Given the description of an element on the screen output the (x, y) to click on. 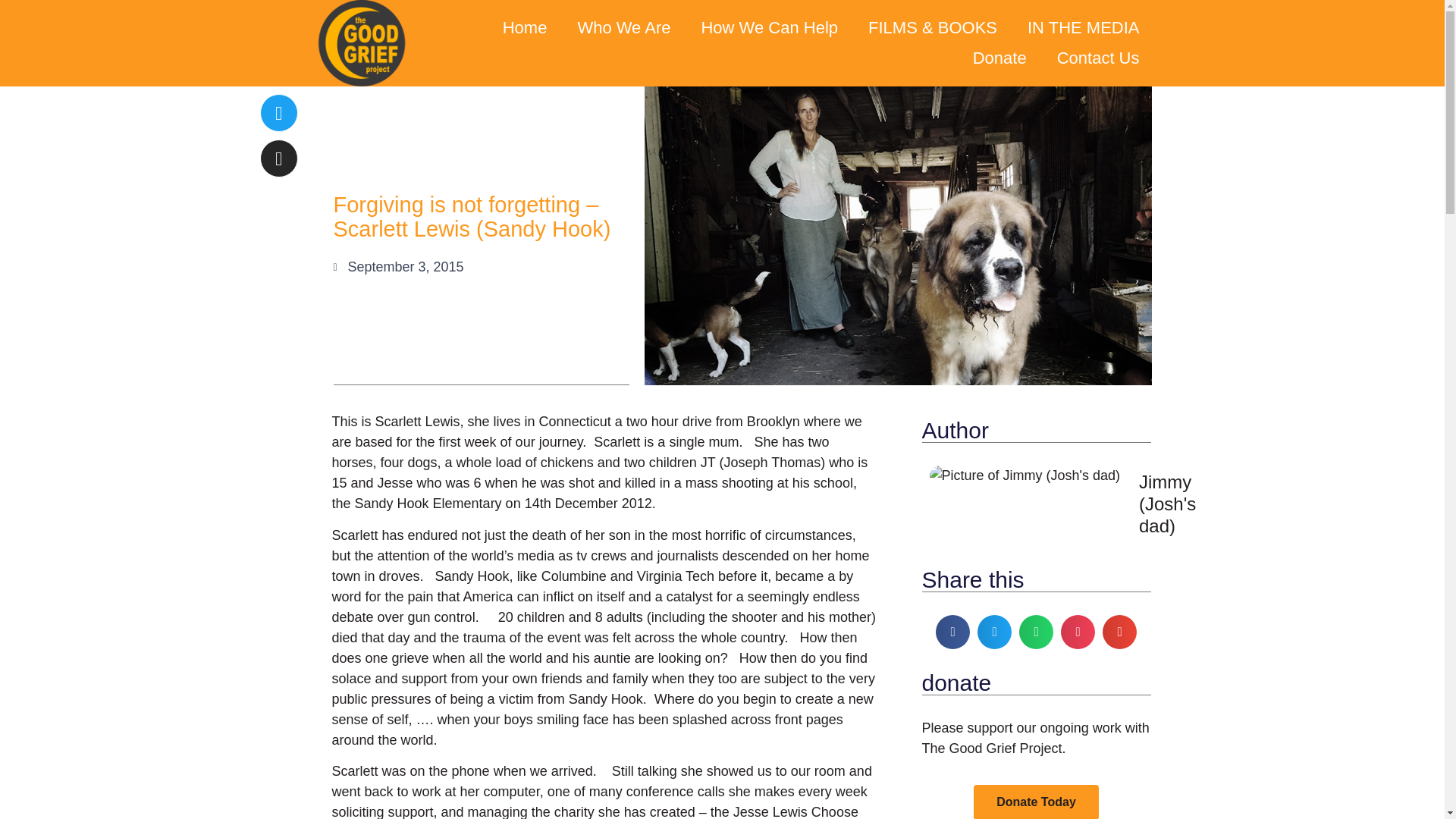
Contact Us (1098, 58)
How We Can Help (769, 28)
Who We Are (623, 28)
Donate (1000, 58)
IN THE MEDIA (1082, 28)
Home (524, 28)
